Given the description of an element on the screen output the (x, y) to click on. 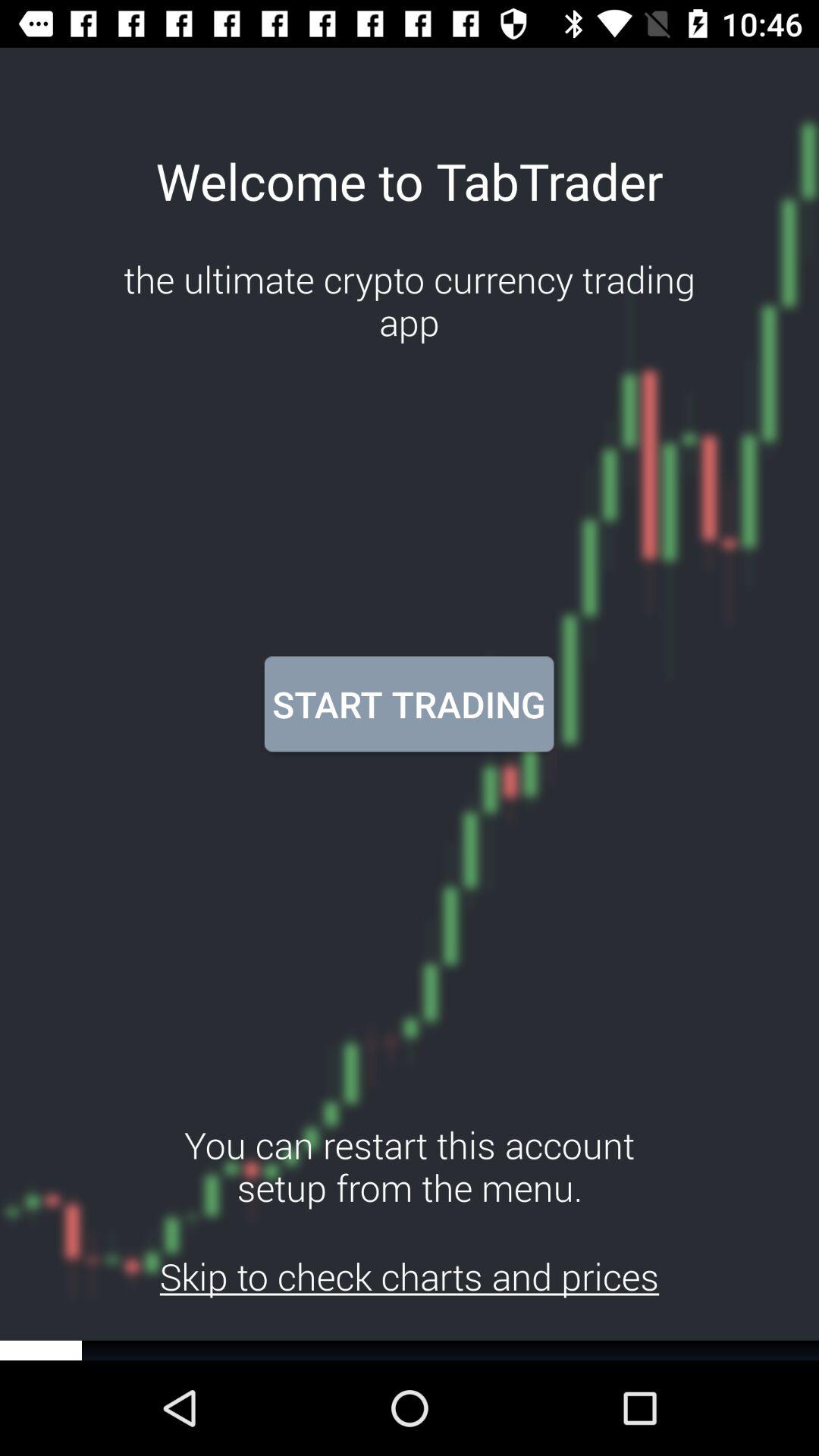
open the item above the you can restart icon (408, 703)
